Given the description of an element on the screen output the (x, y) to click on. 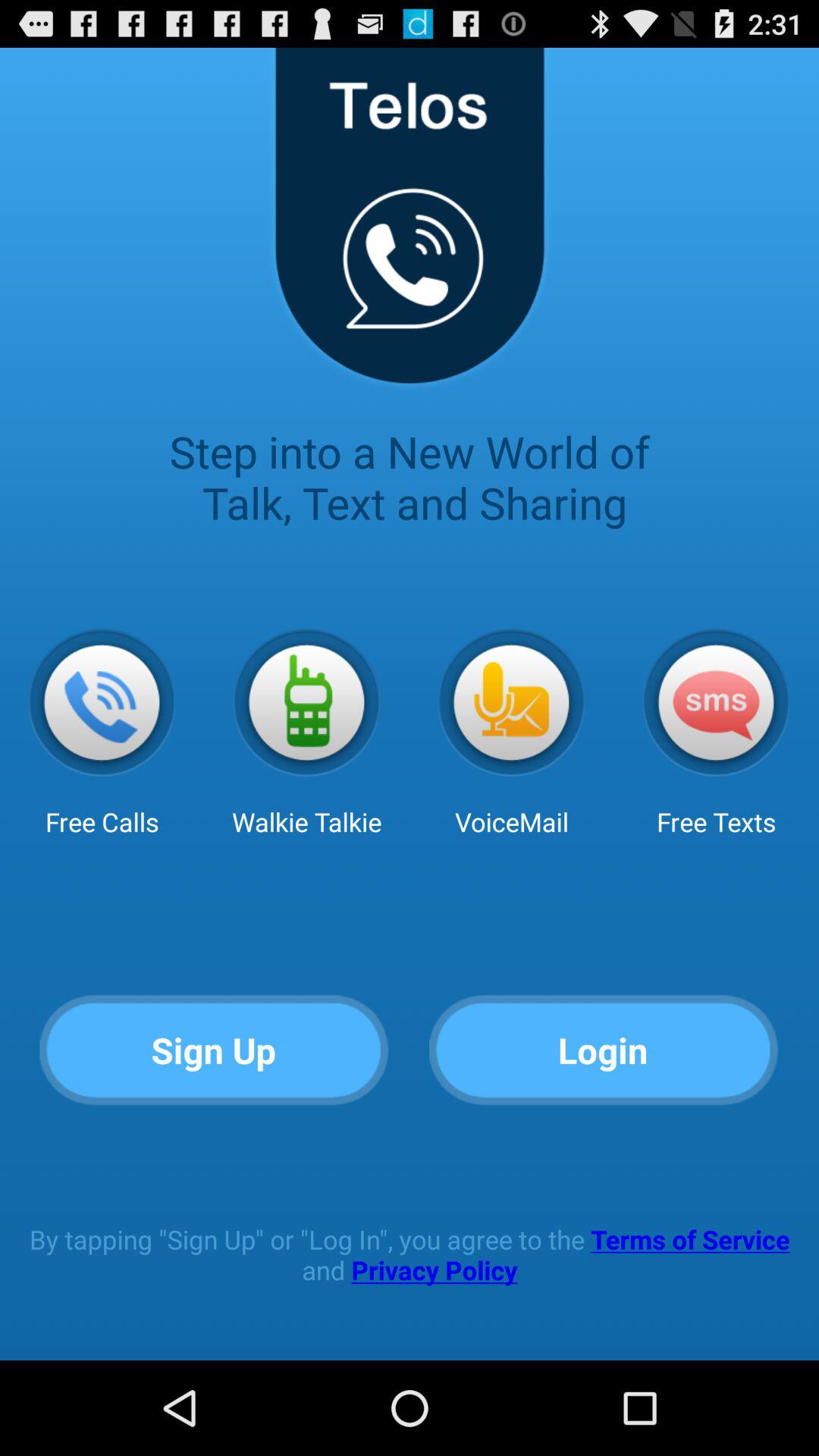
choose app below the voicemail item (604, 1050)
